Given the description of an element on the screen output the (x, y) to click on. 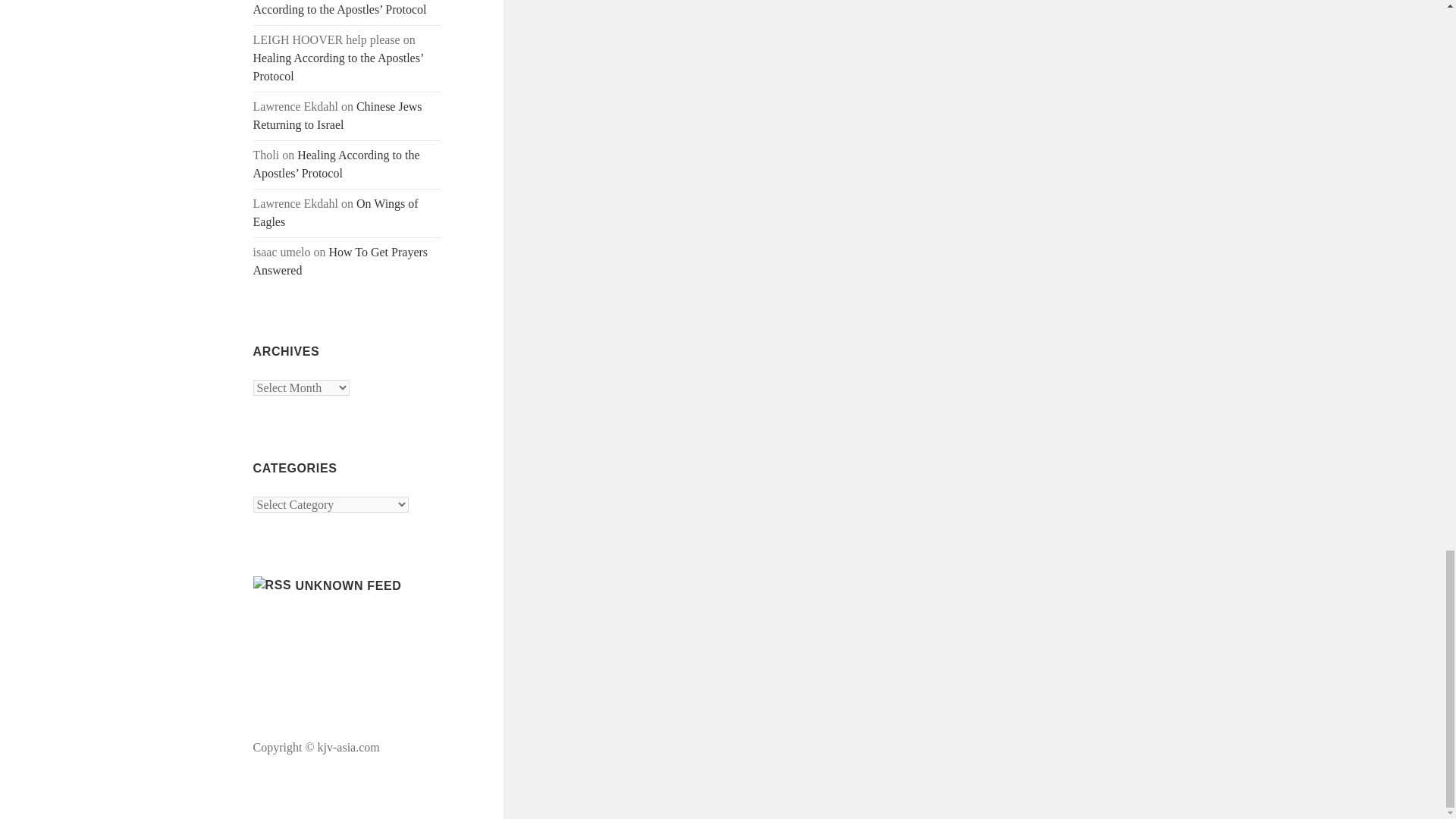
Chinese Jews Returning to Israel (337, 115)
On Wings of Eagles (336, 212)
